Given the description of an element on the screen output the (x, y) to click on. 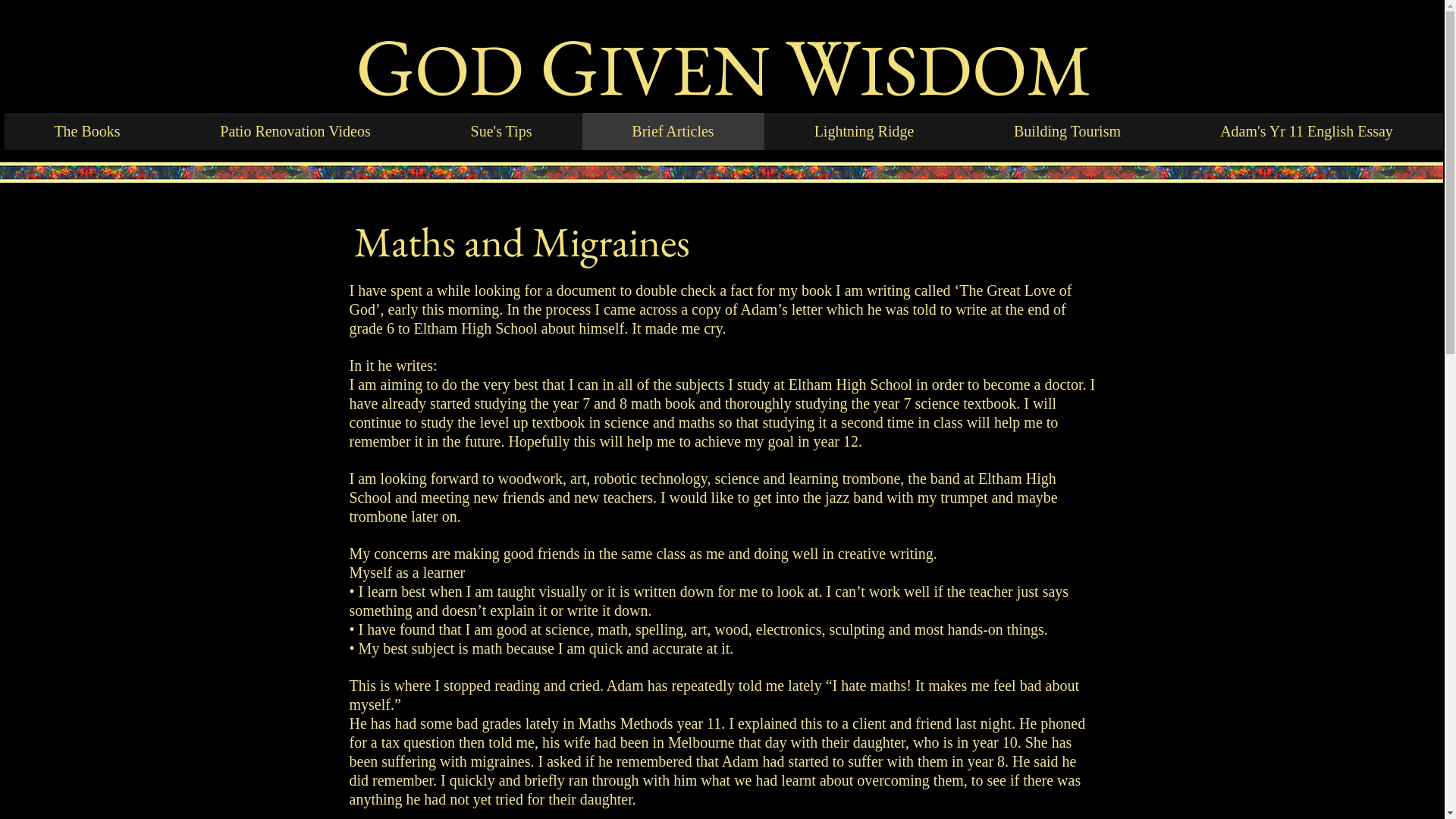
The Books Element type: text (87, 131)
opal band_edited.png Element type: hover (808, 172)
Brief Articles Element type: text (673, 131)
Building Tourism Element type: text (1067, 131)
Lightning Ridge Element type: text (864, 131)
Patio Renovation Videos Element type: text (294, 131)
Adam's Yr 11 English Essay Element type: text (1306, 131)
Sue's Tips Element type: text (500, 131)
